Given the description of an element on the screen output the (x, y) to click on. 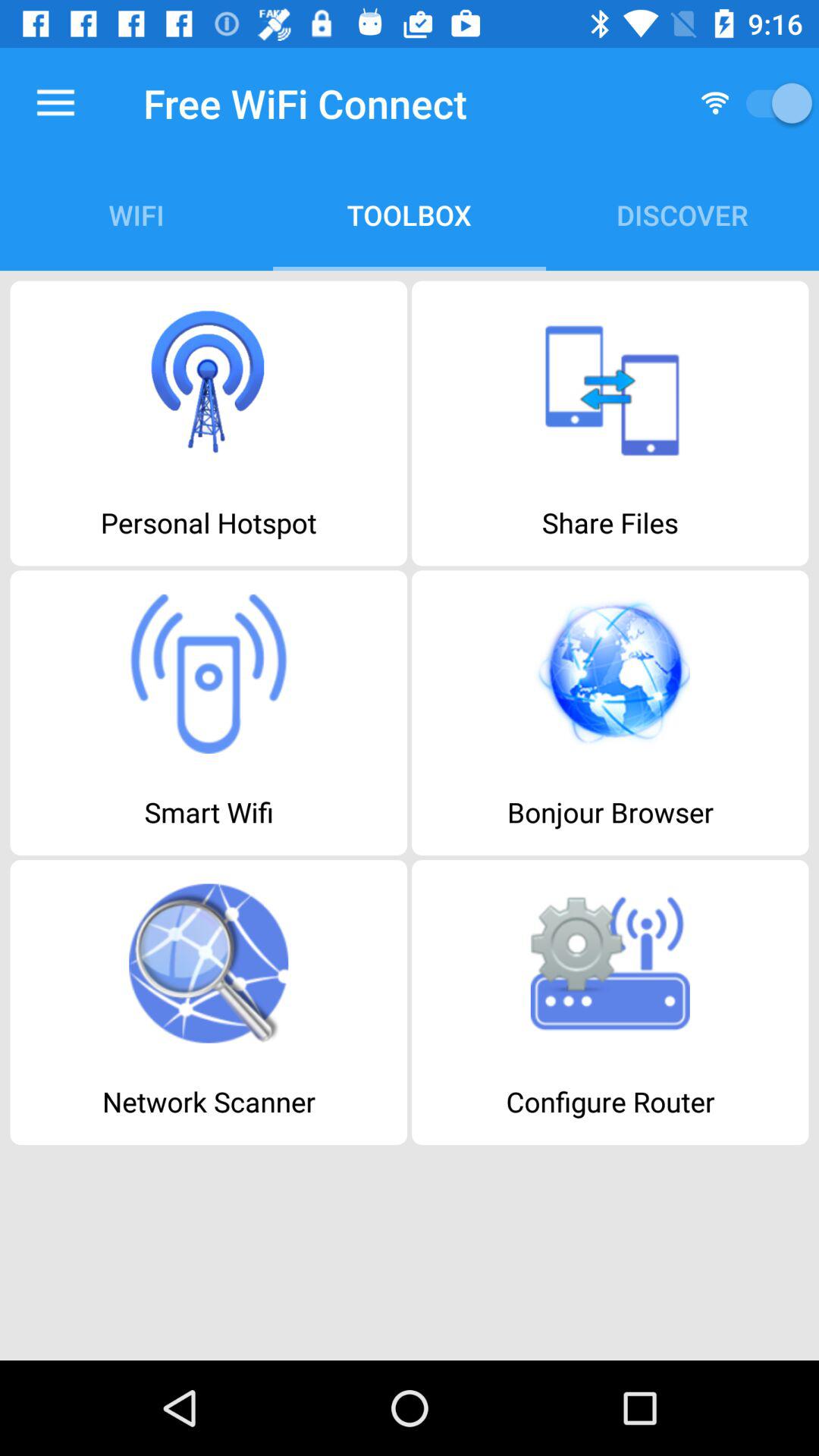
slide to open wifi switch on wifi (773, 103)
